Given the description of an element on the screen output the (x, y) to click on. 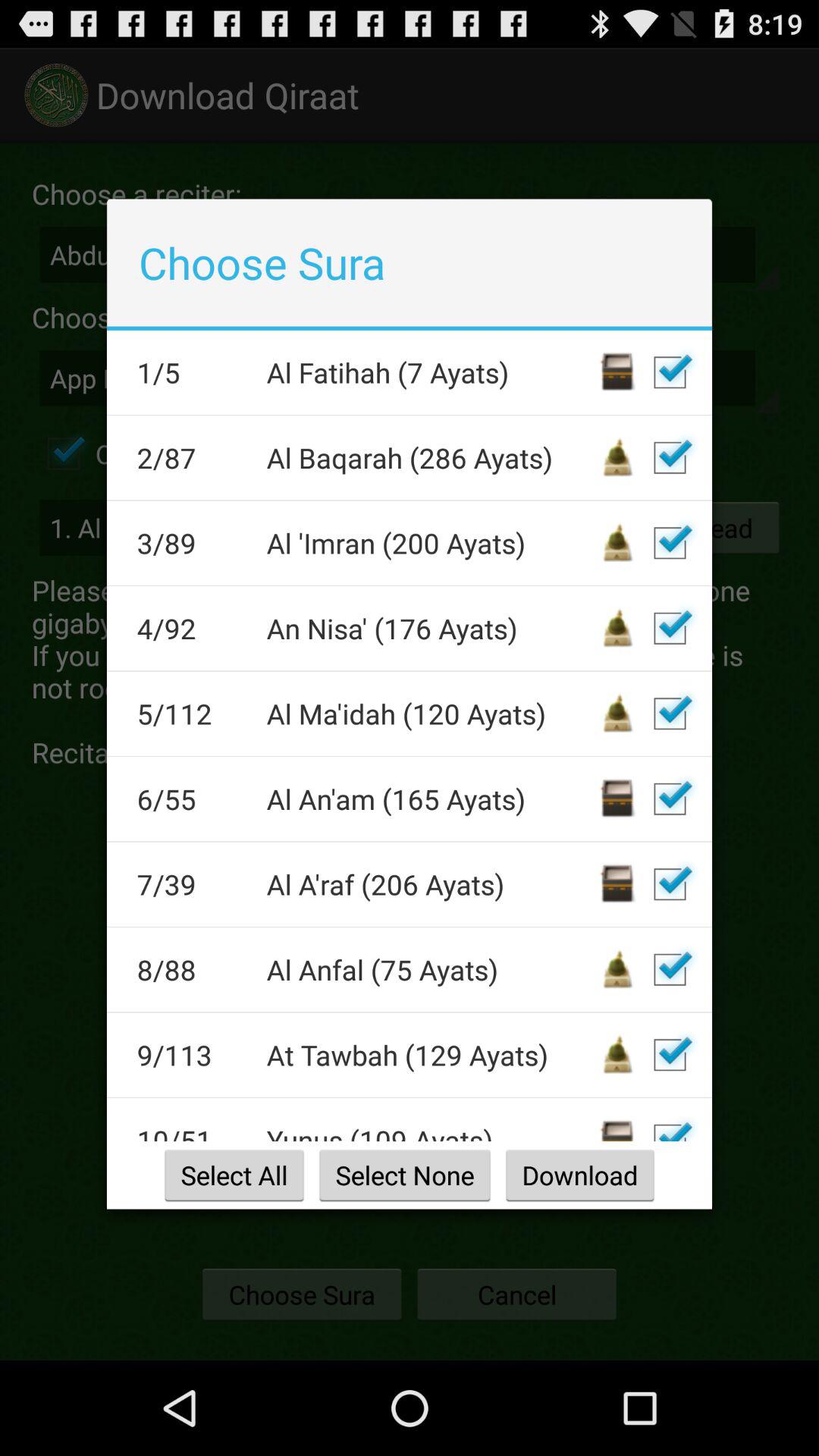
tick box (669, 798)
